Given the description of an element on the screen output the (x, y) to click on. 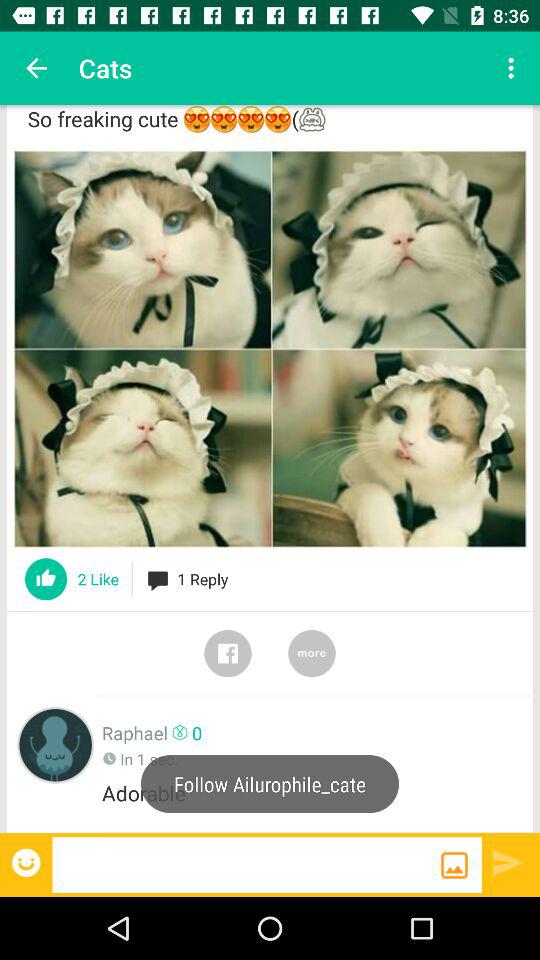
click pictures (269, 348)
